Given the description of an element on the screen output the (x, y) to click on. 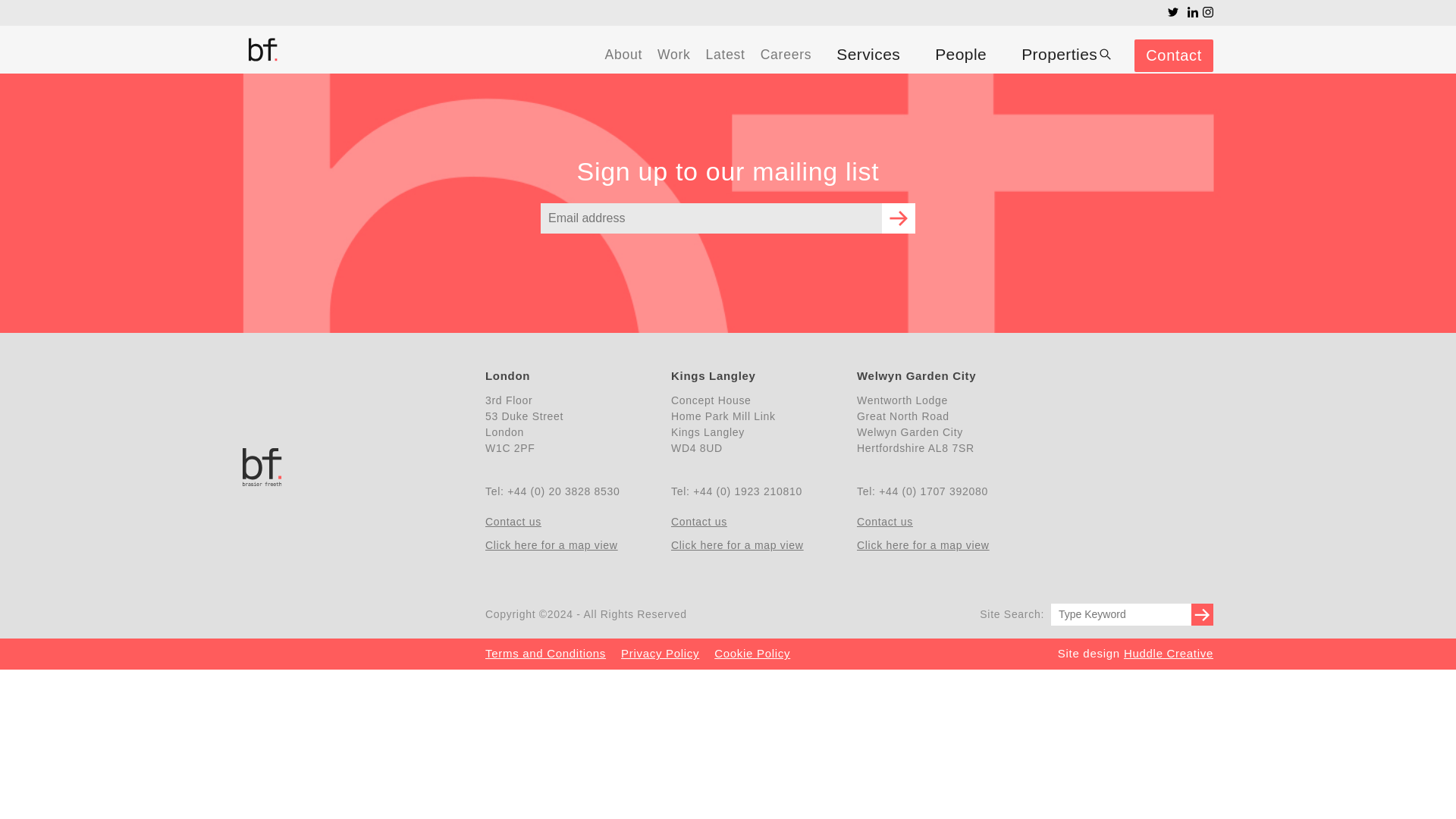
People (960, 54)
Contact us (942, 521)
About (623, 54)
Contact us (570, 521)
Careers (785, 54)
Work (674, 54)
Click here for a map view (570, 545)
Contact us (756, 521)
Click here for a map view (756, 545)
Click here for a map view (942, 545)
Properties (1066, 54)
Services (868, 54)
Latest (725, 54)
Contact (1173, 55)
